Given the description of an element on the screen output the (x, y) to click on. 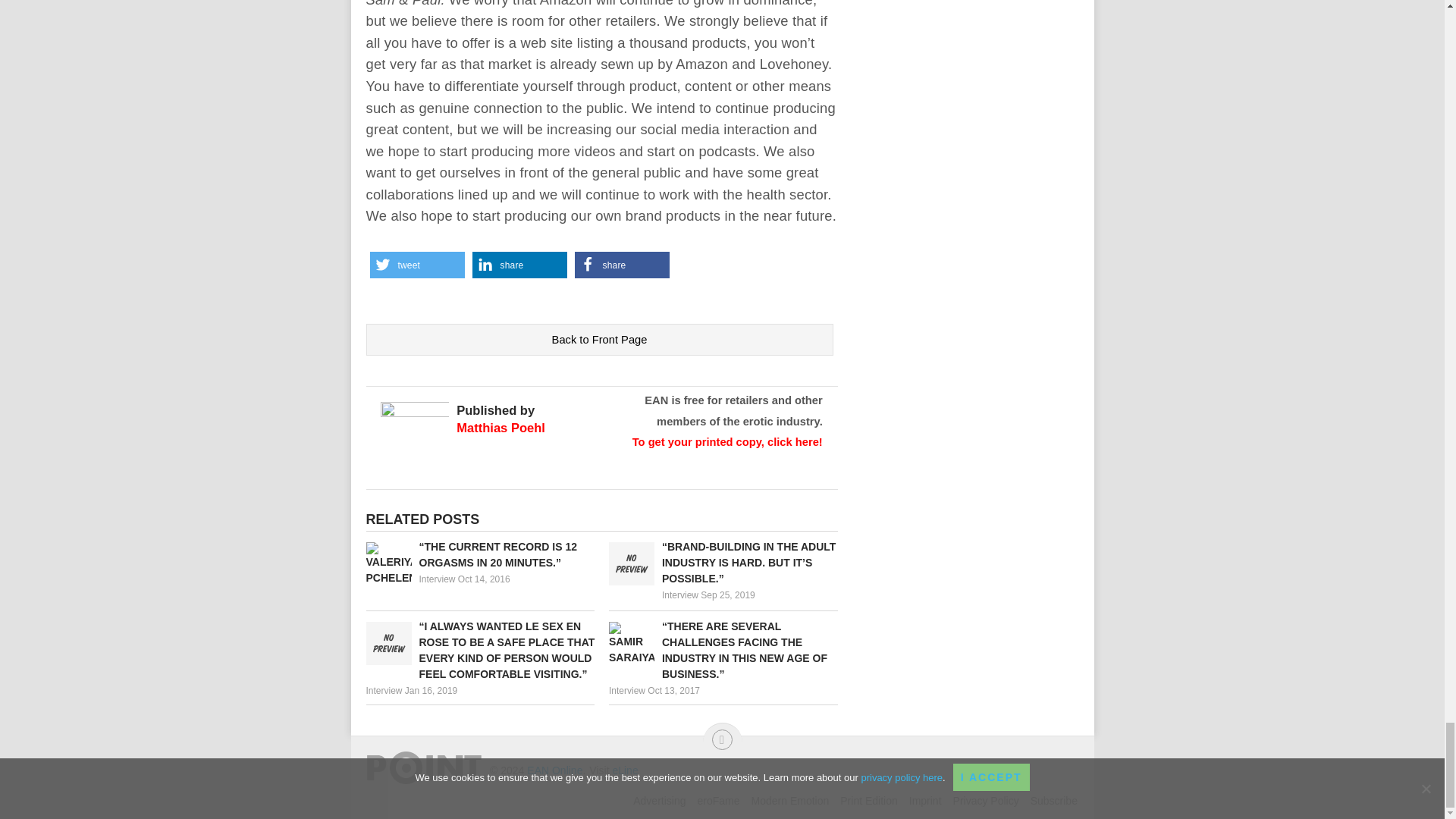
Interview (680, 594)
Interview (436, 579)
Posts by Matthias Poehl (500, 427)
Share on LinkedIn (518, 264)
Back to Front Page (599, 339)
Matthias Poehl (500, 427)
tweet  (416, 264)
Share on Twitter (416, 264)
share  (622, 264)
share  (518, 264)
